Given the description of an element on the screen output the (x, y) to click on. 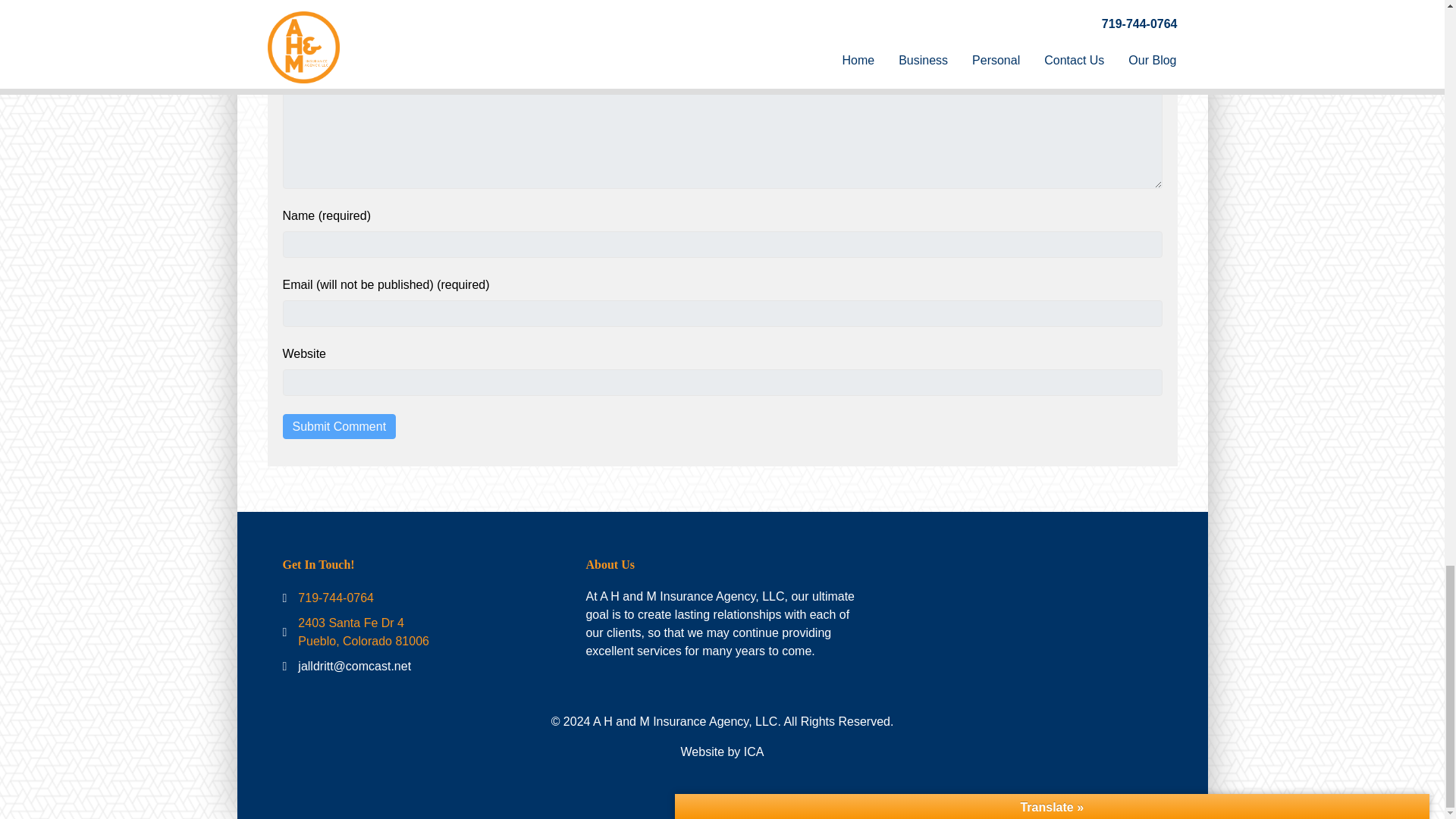
Submit Comment (339, 426)
